Given the description of an element on the screen output the (x, y) to click on. 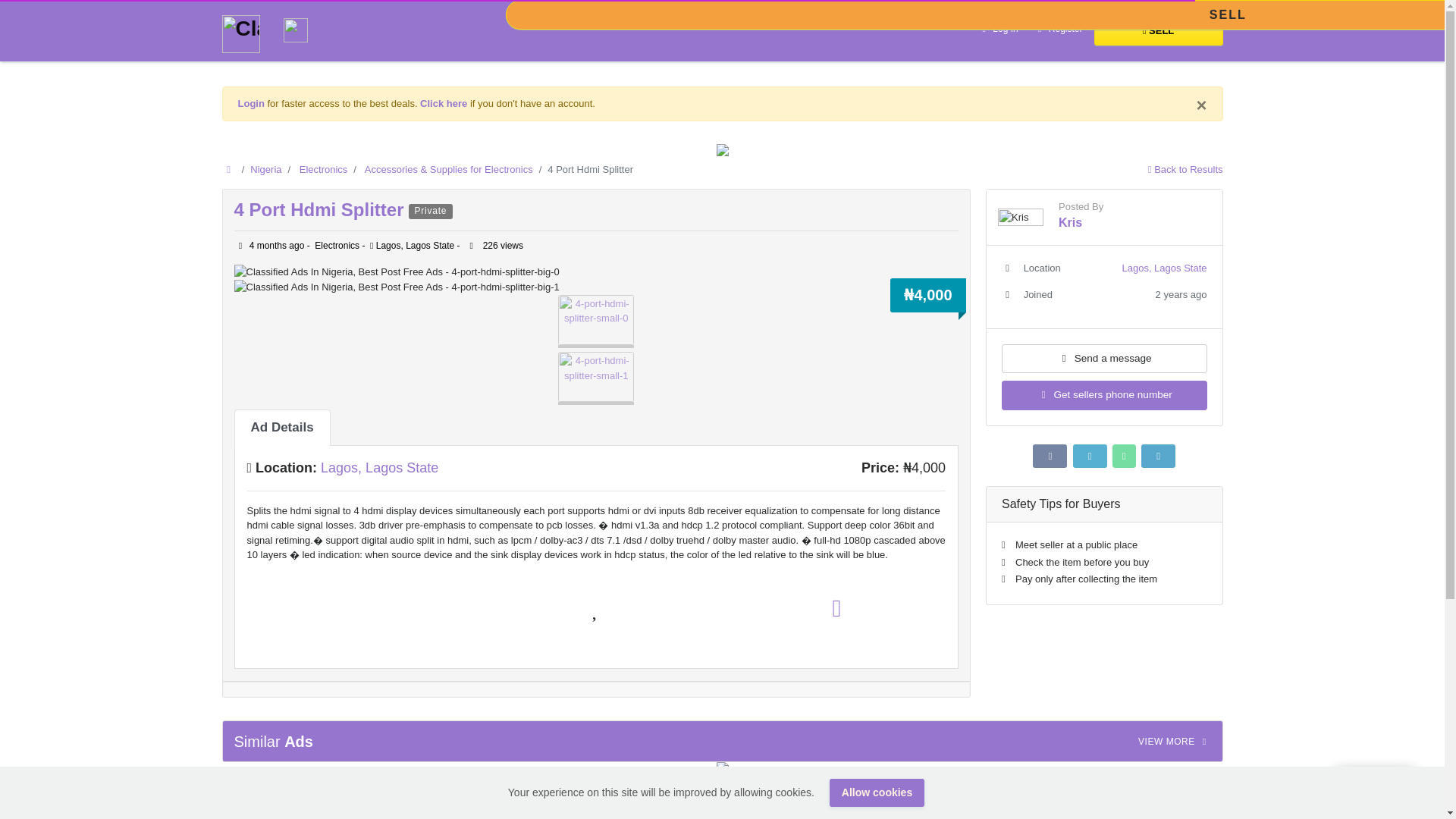
Ad Details (281, 427)
Login (251, 102)
Back to Results (1185, 169)
VIEW MORE (1174, 741)
Register (1058, 30)
Lagos, Lagos State (1164, 267)
4 Port Hdmi Splitter (320, 209)
Get sellers phone number (1104, 394)
4 Port Hdmi Splitter (320, 209)
SELL (1158, 30)
Electronics (323, 169)
Lagos, Lagos State (379, 467)
Nigeria (265, 169)
